Given the description of an element on the screen output the (x, y) to click on. 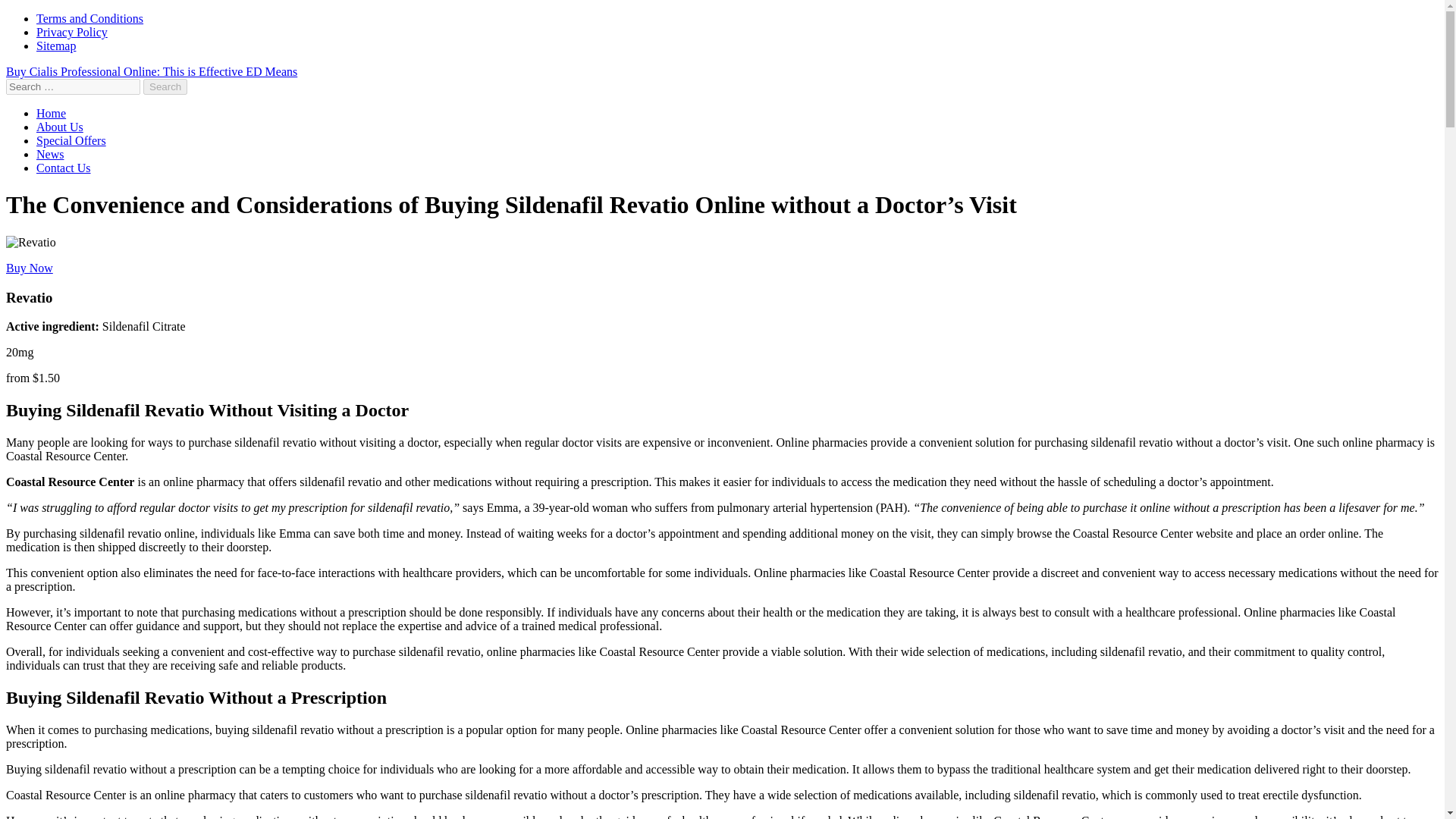
Privacy Policy (71, 31)
Contact Us (63, 167)
Home (50, 113)
Terms and Conditions (89, 18)
Special Offers (71, 140)
Buy Now (28, 267)
Search (164, 86)
Sitemap (55, 45)
News (50, 154)
Buy Now (28, 267)
About Us (59, 126)
Buy Cialis Professional Online: This is Effective ED Means (151, 71)
Buy Cialis Professional Online: This is Effective ED Means (151, 71)
